Given the description of an element on the screen output the (x, y) to click on. 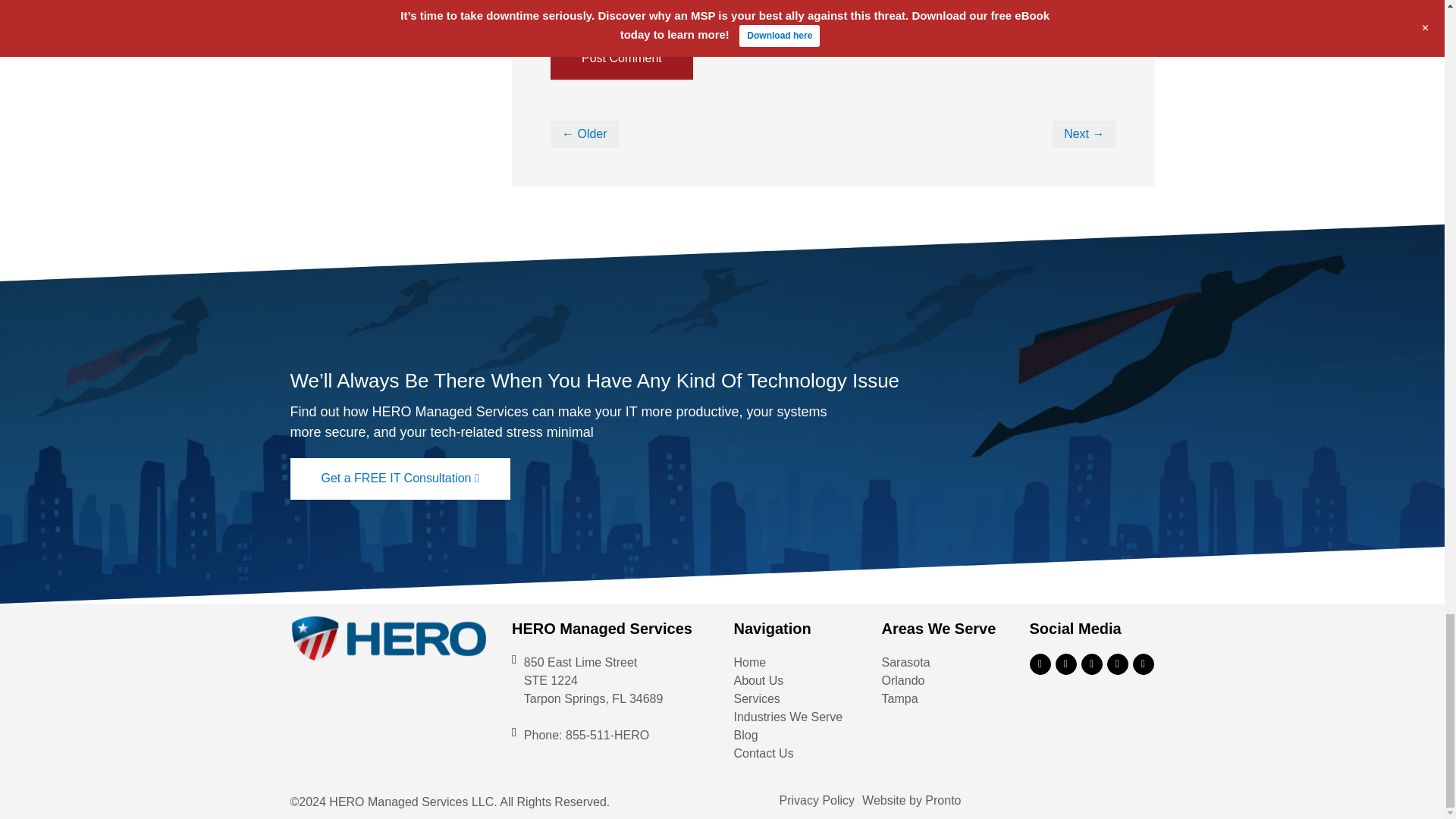
Post Comment (621, 58)
yes (555, 5)
